Given the description of an element on the screen output the (x, y) to click on. 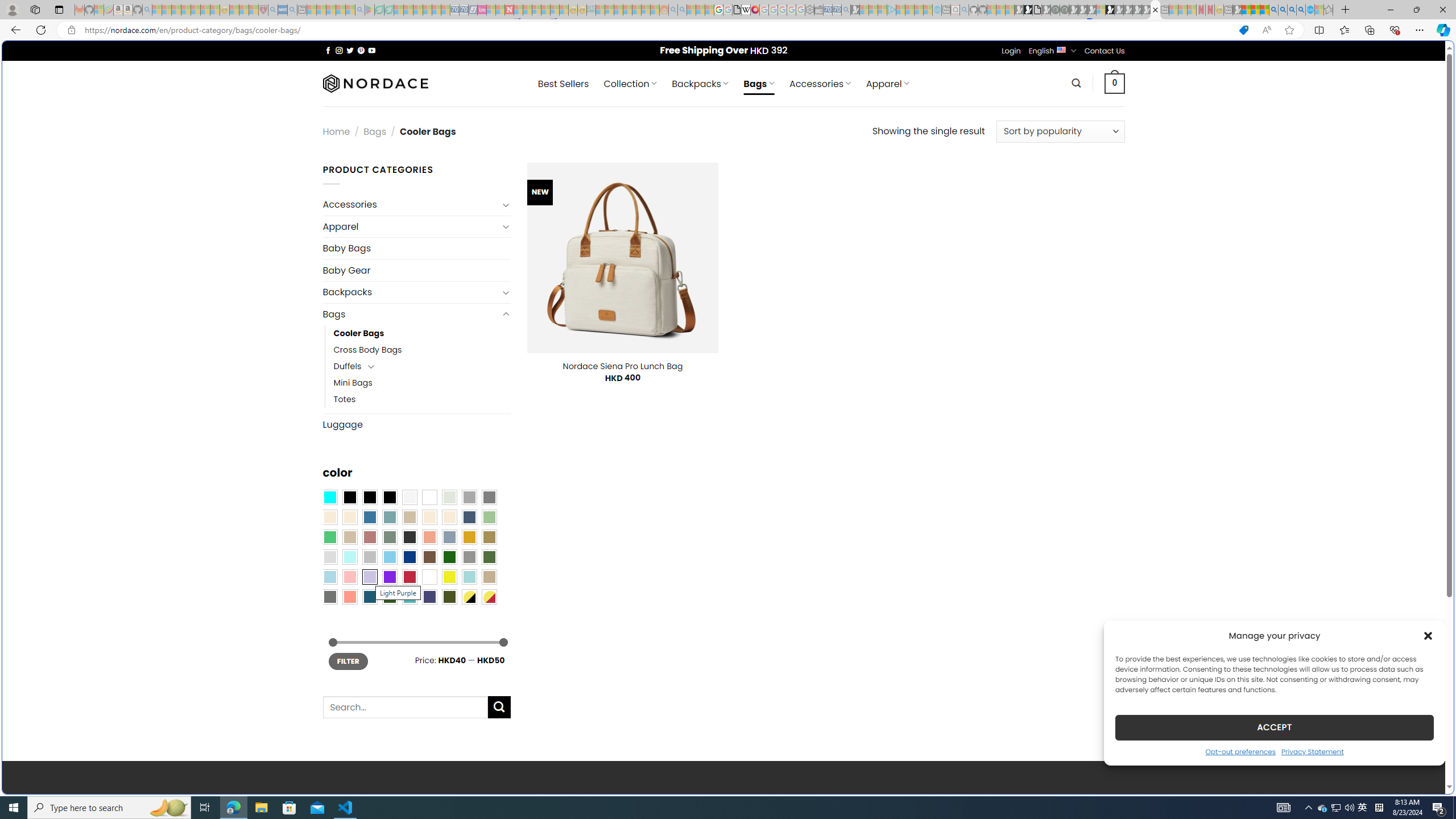
github - Search - Sleeping (964, 9)
Nordace (374, 83)
Forest (389, 596)
Local - MSN - Sleeping (253, 9)
Follow on Instagram (338, 49)
Dark Green (449, 557)
Apparel (410, 226)
Contact Us (1104, 50)
